Given the description of an element on the screen output the (x, y) to click on. 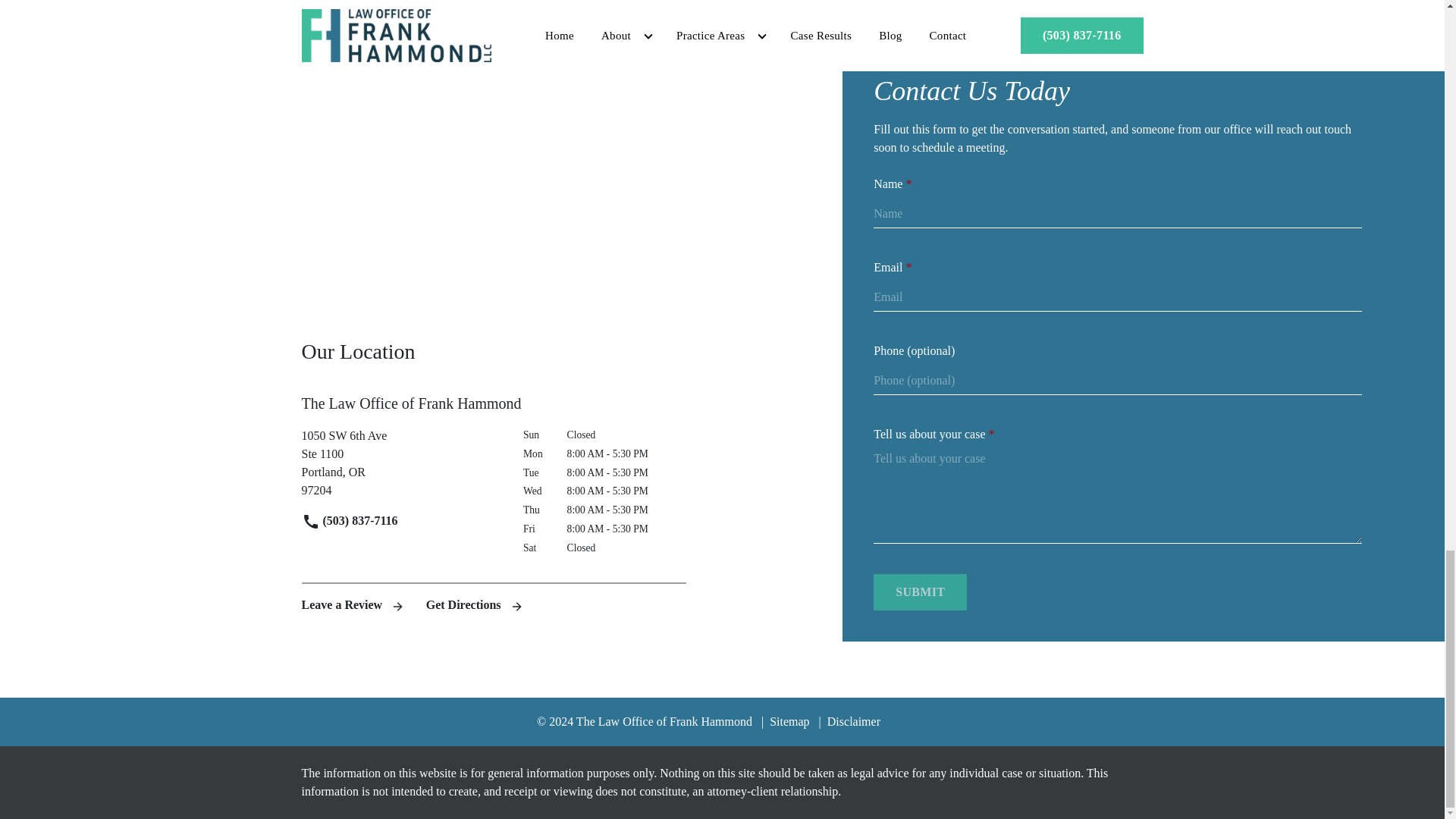
SUBMIT (400, 462)
Leave a Review (919, 592)
